Given the description of an element on the screen output the (x, y) to click on. 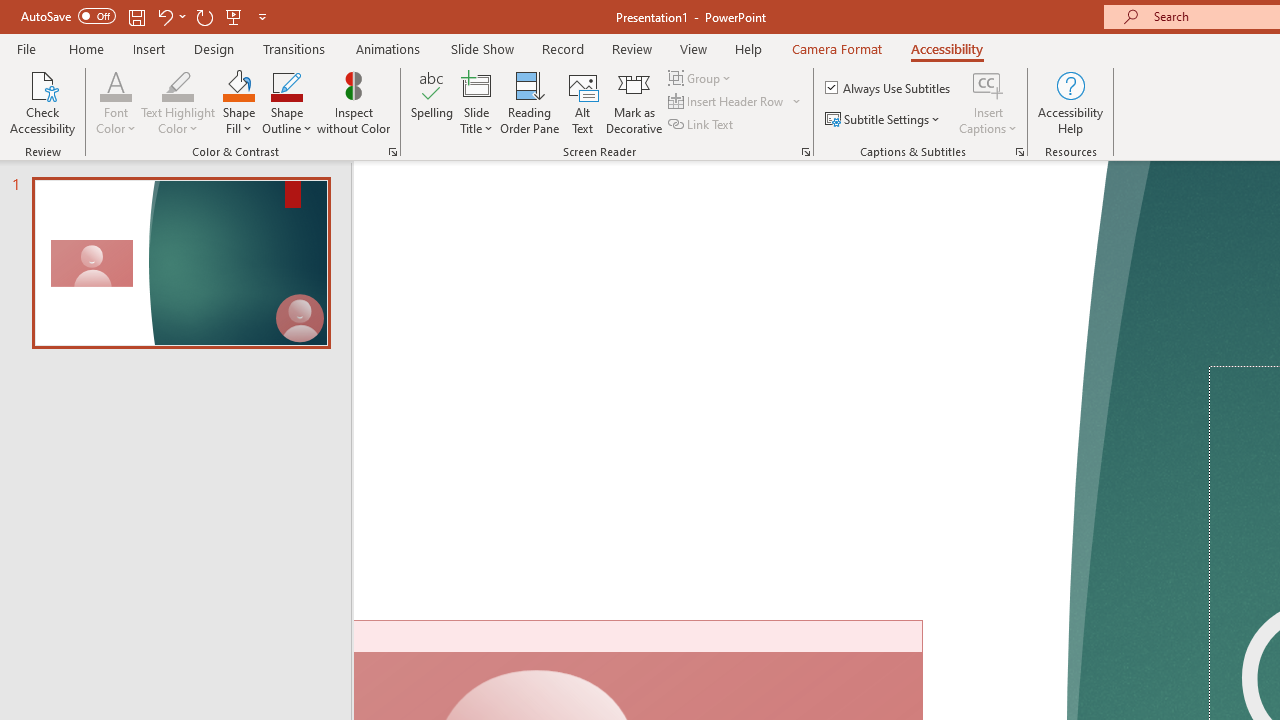
Accessibility Help (1070, 102)
